Given the description of an element on the screen output the (x, y) to click on. 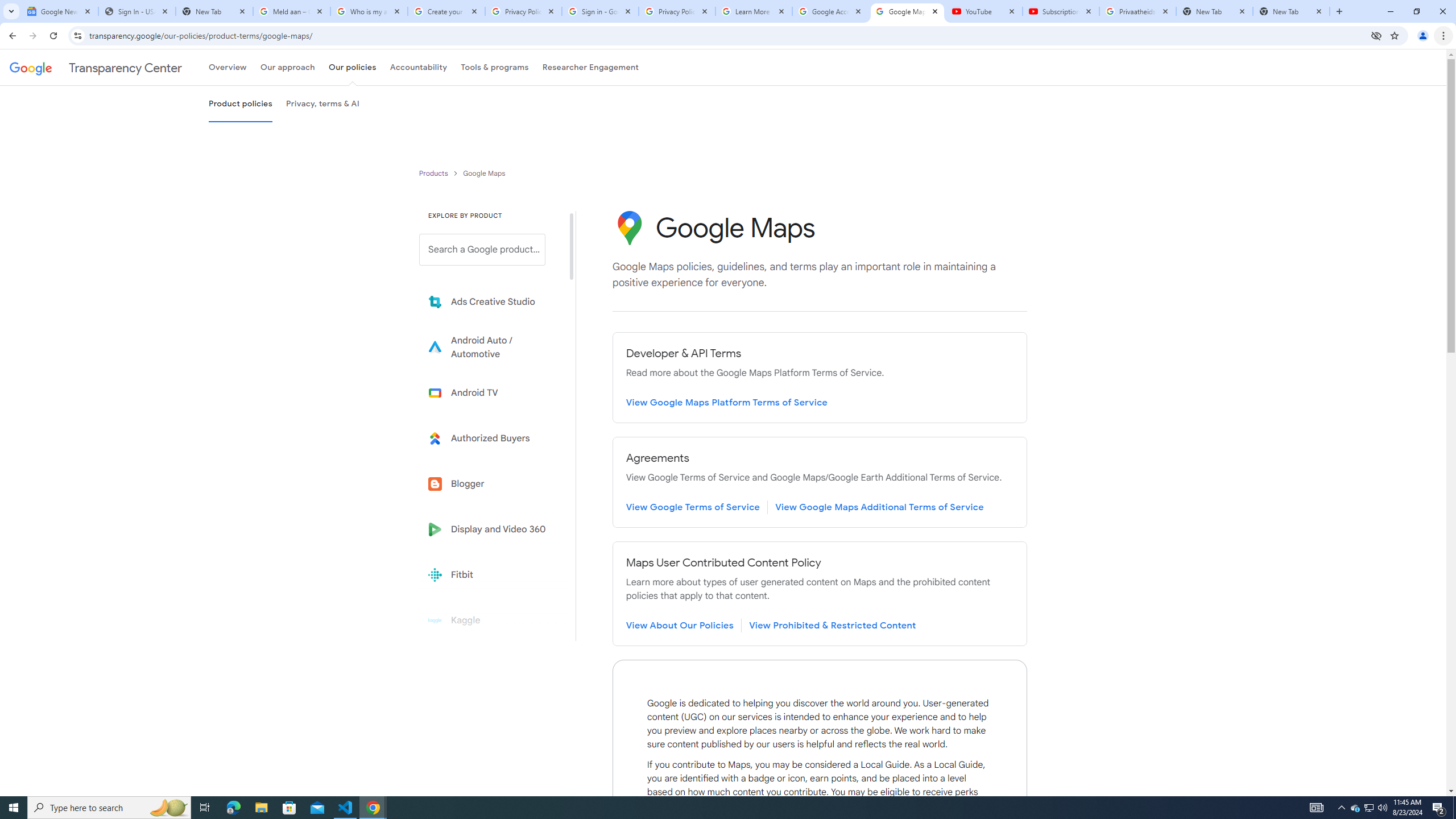
Learn more about Android Auto (490, 347)
Display and Video 360 (490, 529)
Learn more about Ads Creative Studio (490, 302)
Product policies (434, 173)
YouTube (983, 11)
Learn more about Android Auto (490, 347)
Fitbit (490, 574)
Google Account (830, 11)
Create your Google Account (446, 11)
